Given the description of an element on the screen output the (x, y) to click on. 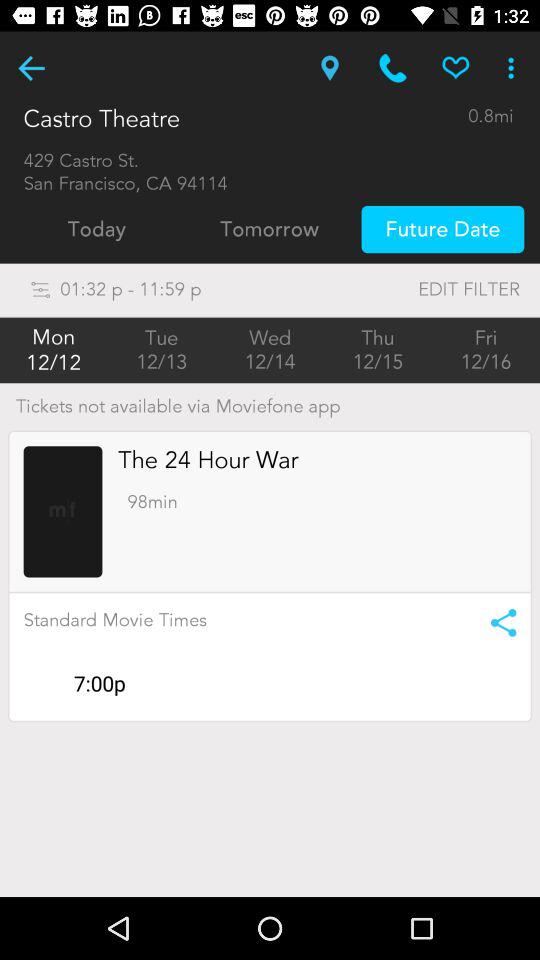
turn off the item below tickets not available item (208, 460)
